Given the description of an element on the screen output the (x, y) to click on. 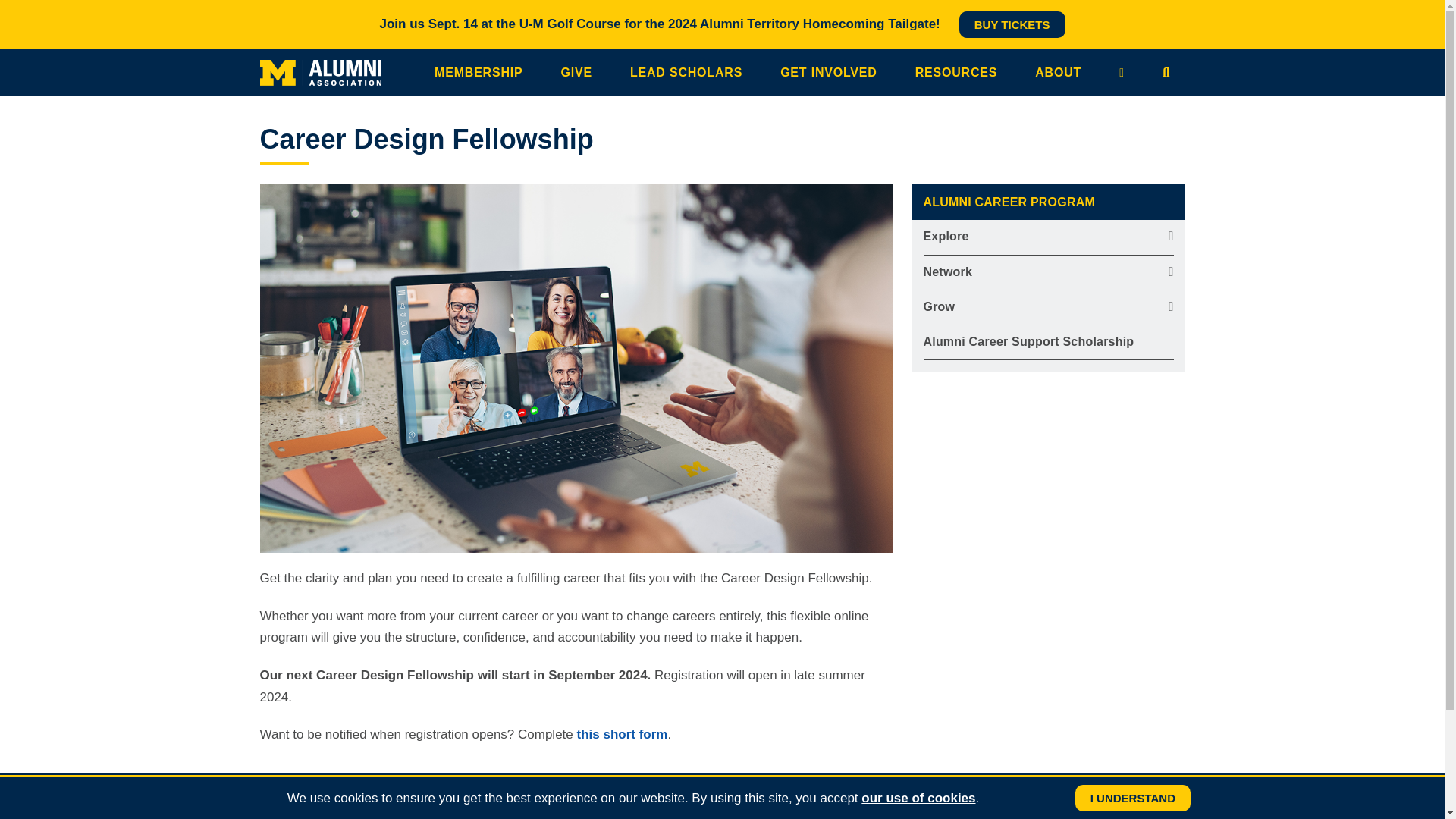
LEAD SCHOLARS (689, 72)
GIVE (580, 72)
BUY TICKETS (1012, 24)
MEMBERSHIP (481, 72)
GET INVOLVED (832, 72)
